Given the description of an element on the screen output the (x, y) to click on. 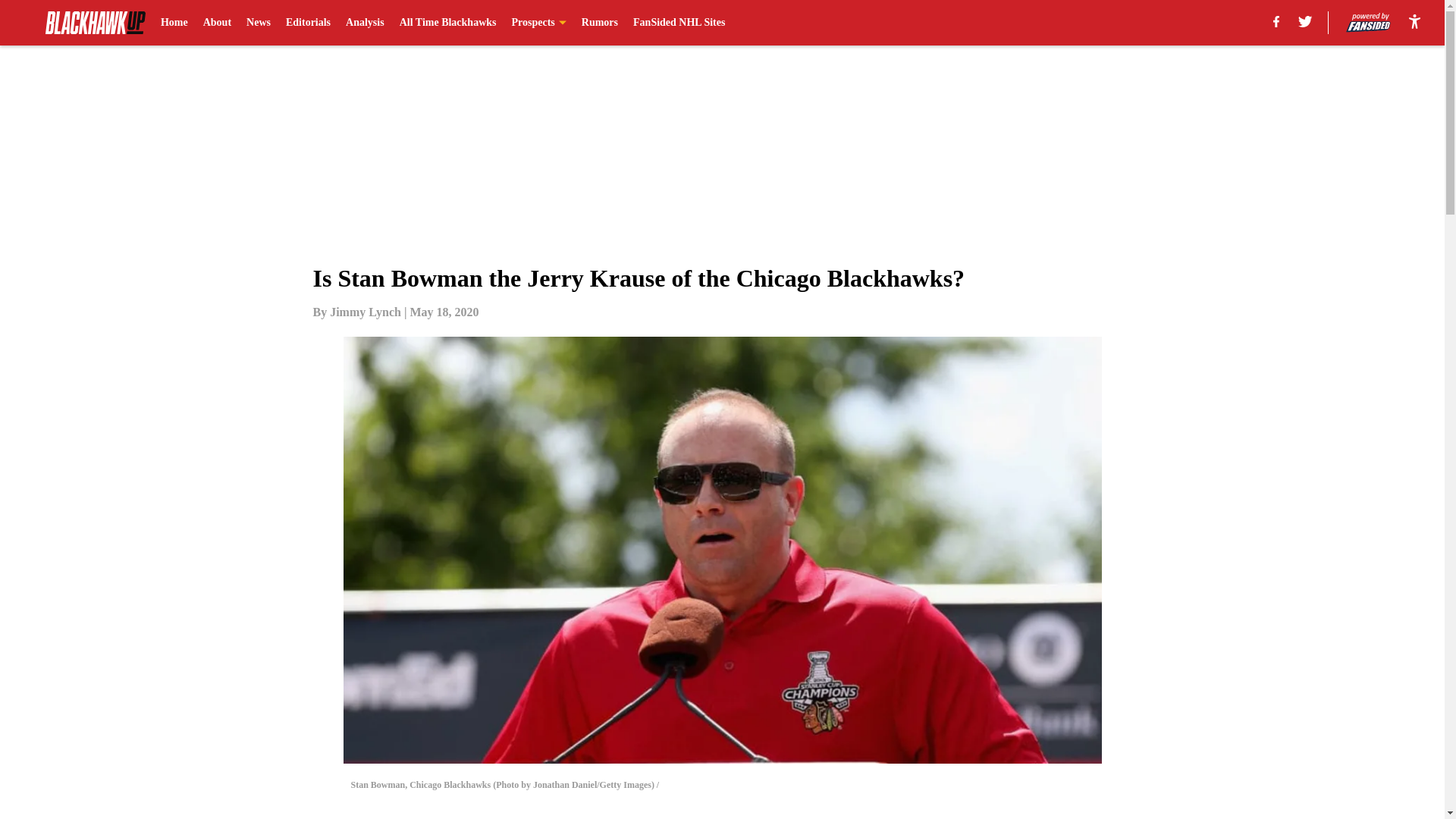
All Time Blackhawks (447, 22)
News (258, 22)
About (217, 22)
FanSided NHL Sites (679, 22)
Home (173, 22)
Editorials (307, 22)
Analysis (365, 22)
Rumors (598, 22)
